Given the description of an element on the screen output the (x, y) to click on. 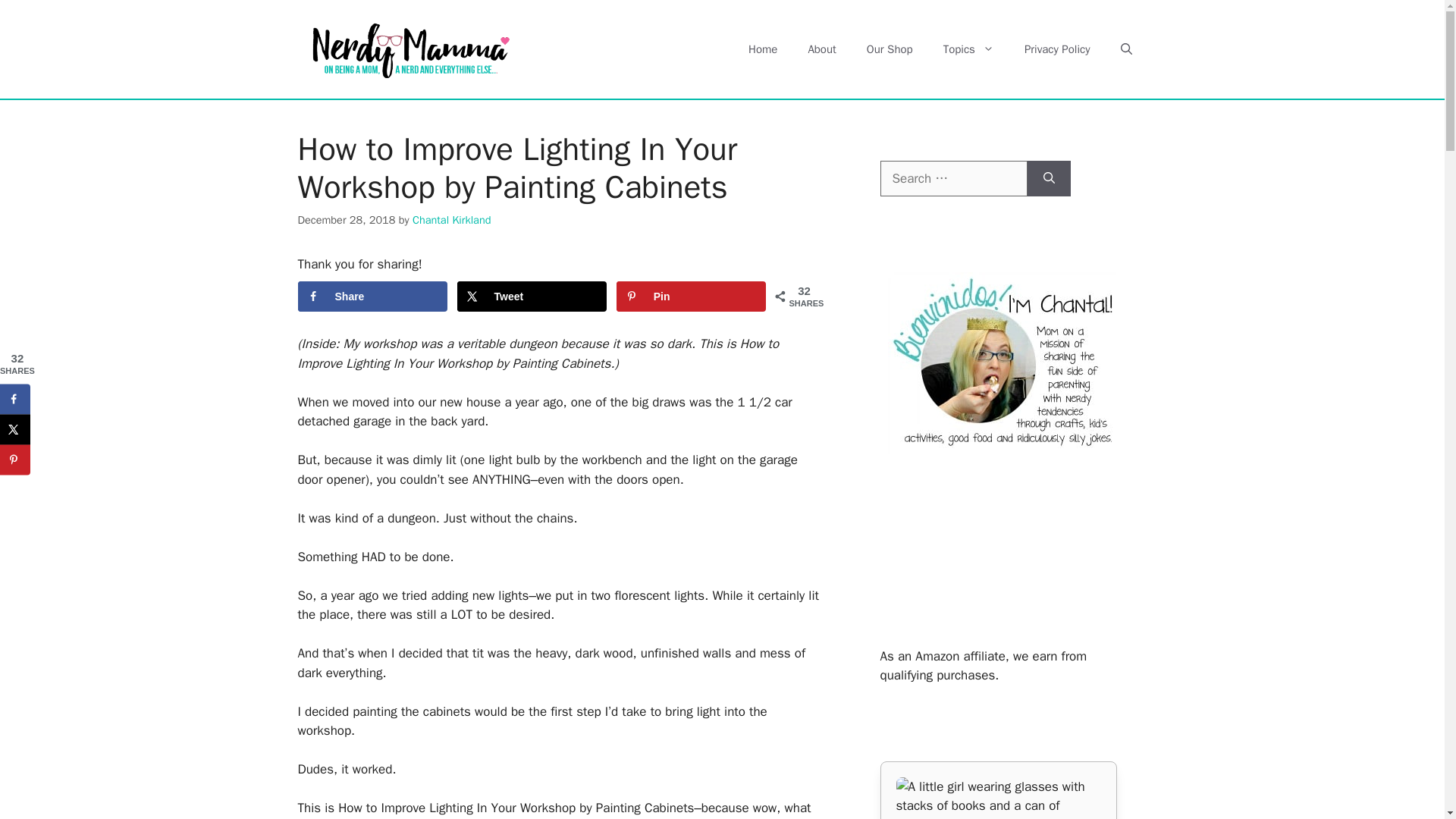
Our Shop (889, 49)
Home (762, 49)
Privacy Policy (1057, 49)
Tweet (532, 296)
Share on Facebook (371, 296)
Share (371, 296)
Save to Pinterest (691, 296)
Pin (691, 296)
View all posts by Chantal Kirkland (452, 219)
Search for: (952, 178)
